Given the description of an element on the screen output the (x, y) to click on. 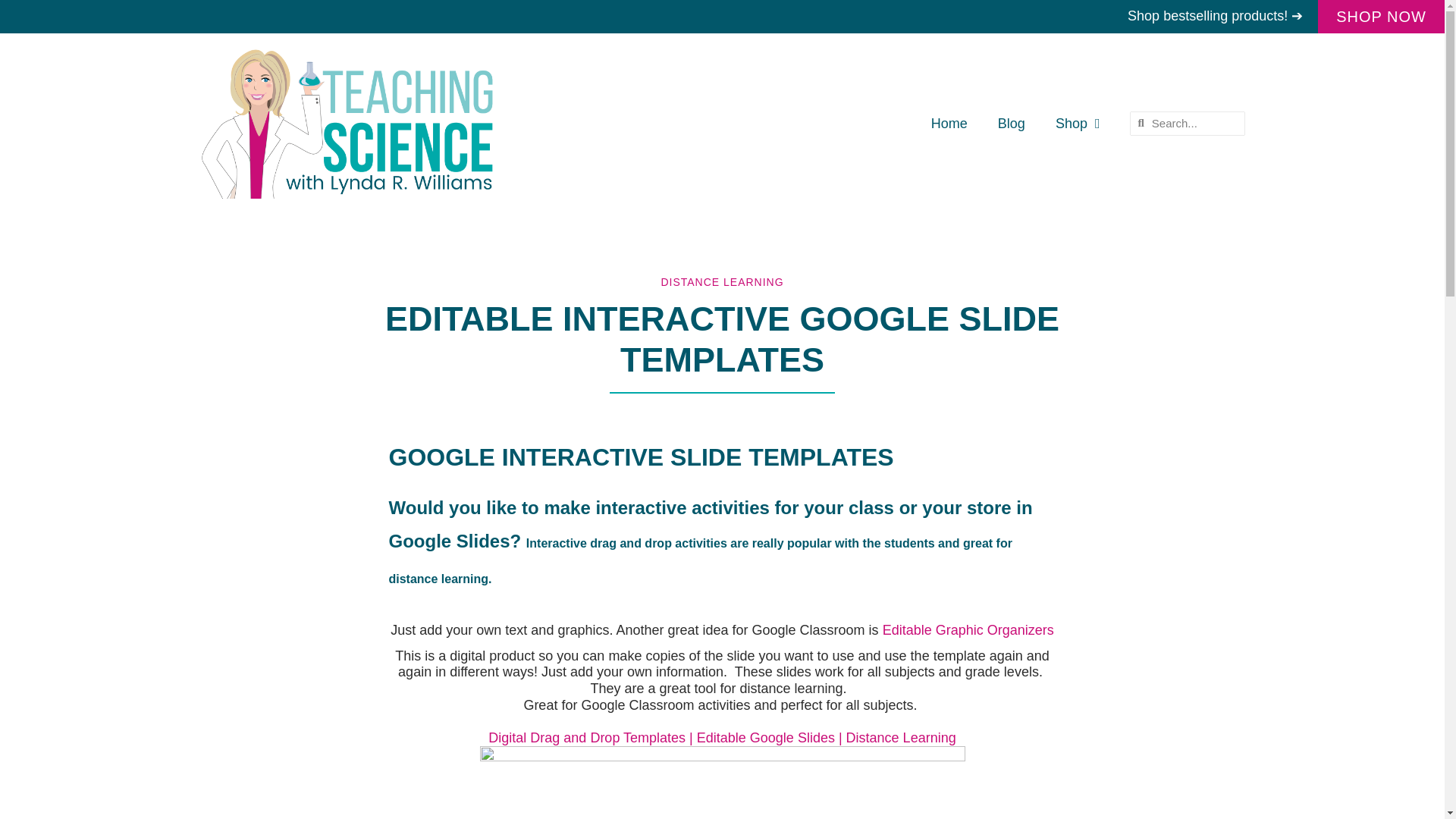
Blog (1011, 123)
Shop (1078, 123)
DISTANCE LEARNING (722, 282)
Home (948, 123)
Editable Graphic Organizers (968, 630)
